Given the description of an element on the screen output the (x, y) to click on. 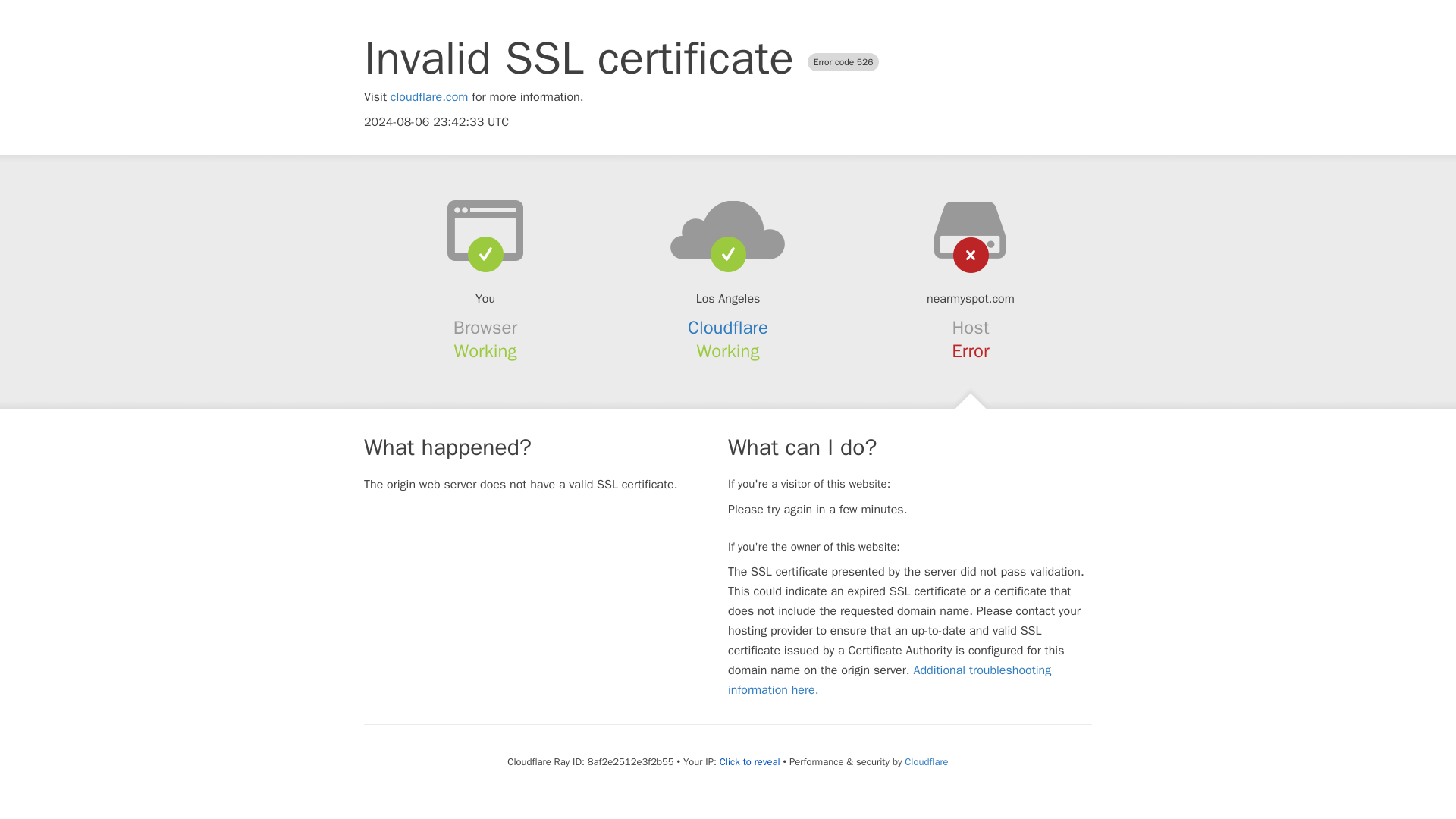
cloudflare.com (429, 96)
Cloudflare (925, 761)
Additional troubleshooting information here. (889, 679)
Cloudflare (727, 327)
Click to reveal (749, 762)
